Given the description of an element on the screen output the (x, y) to click on. 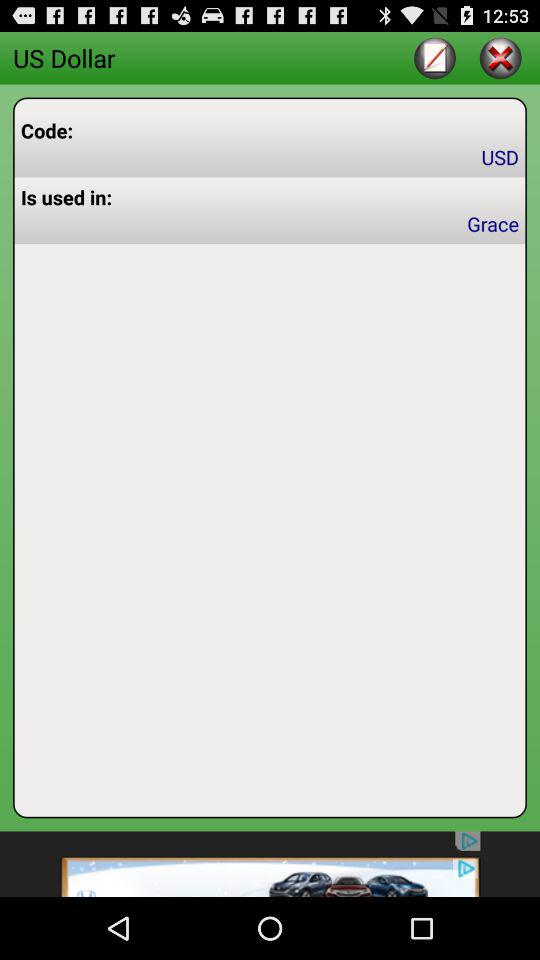
click on advertisement below (270, 864)
